Given the description of an element on the screen output the (x, y) to click on. 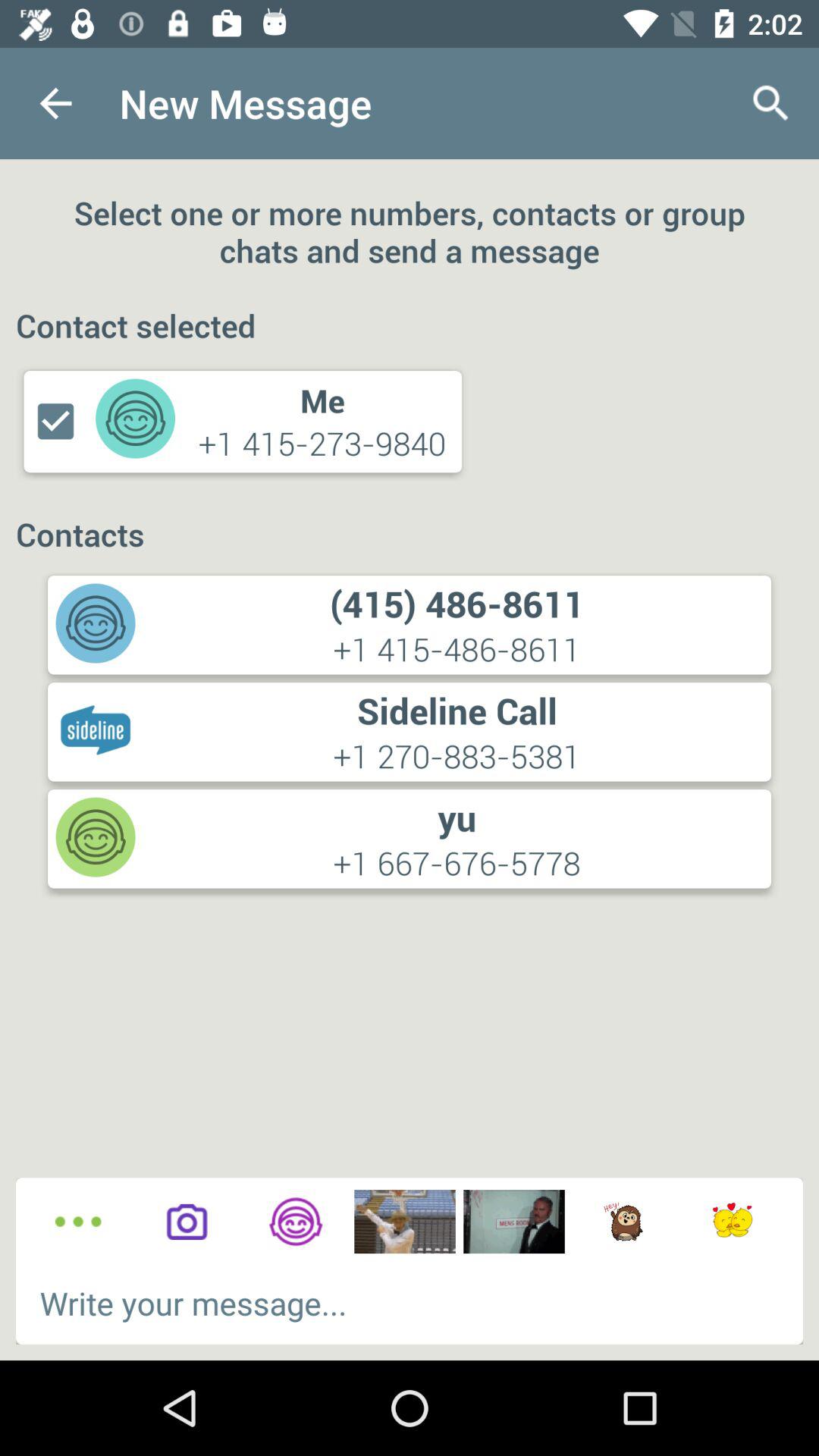
insert sticker (622, 1221)
